Given the description of an element on the screen output the (x, y) to click on. 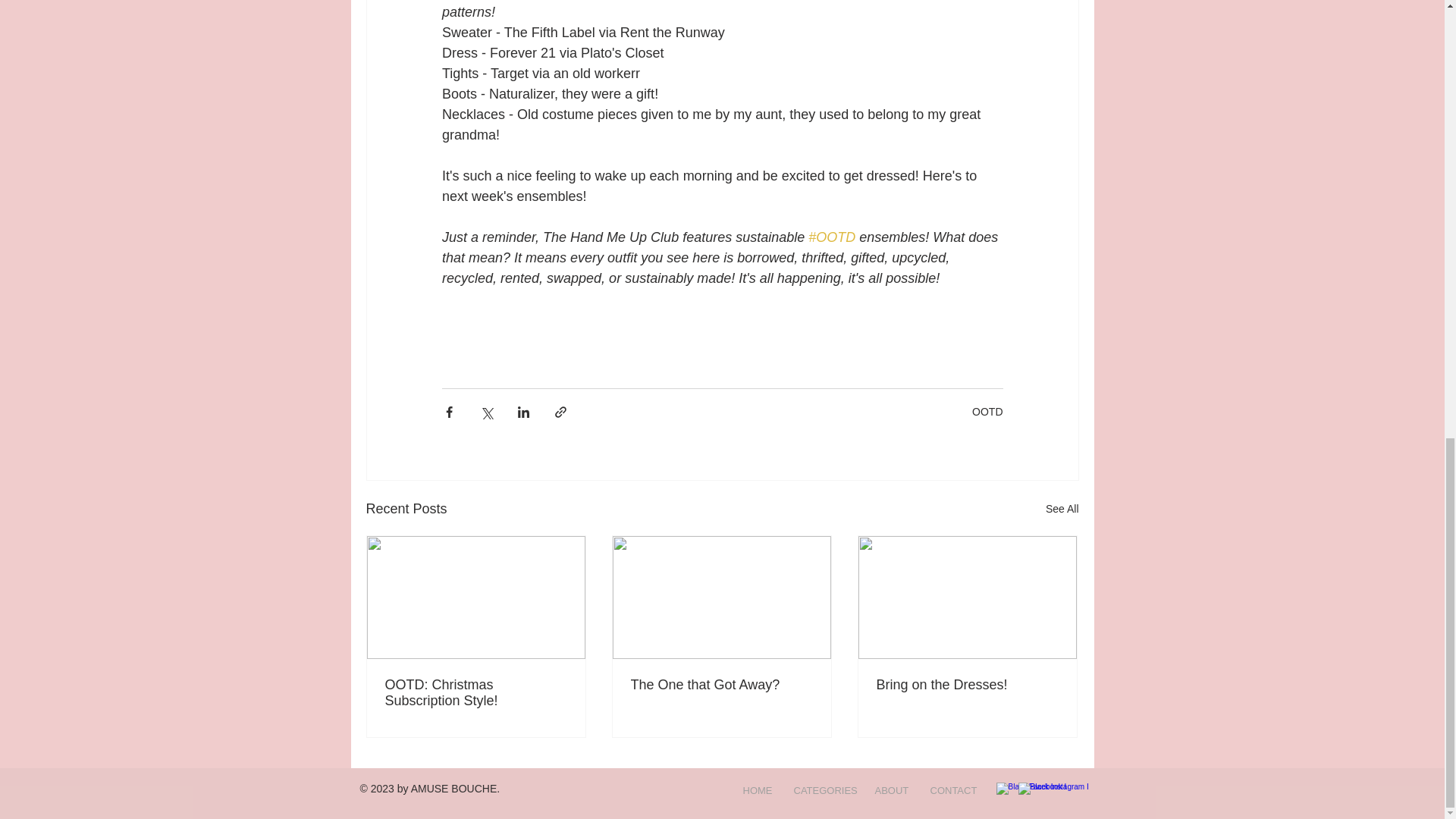
See All (1061, 508)
OOTD (987, 410)
Bring on the Dresses! (967, 684)
ABOUT (890, 790)
AMUSE BOUCHE (453, 788)
OOTD: Christmas Subscription Style! (476, 693)
The One that Got Away? (721, 684)
HOME (755, 790)
